Given the description of an element on the screen output the (x, y) to click on. 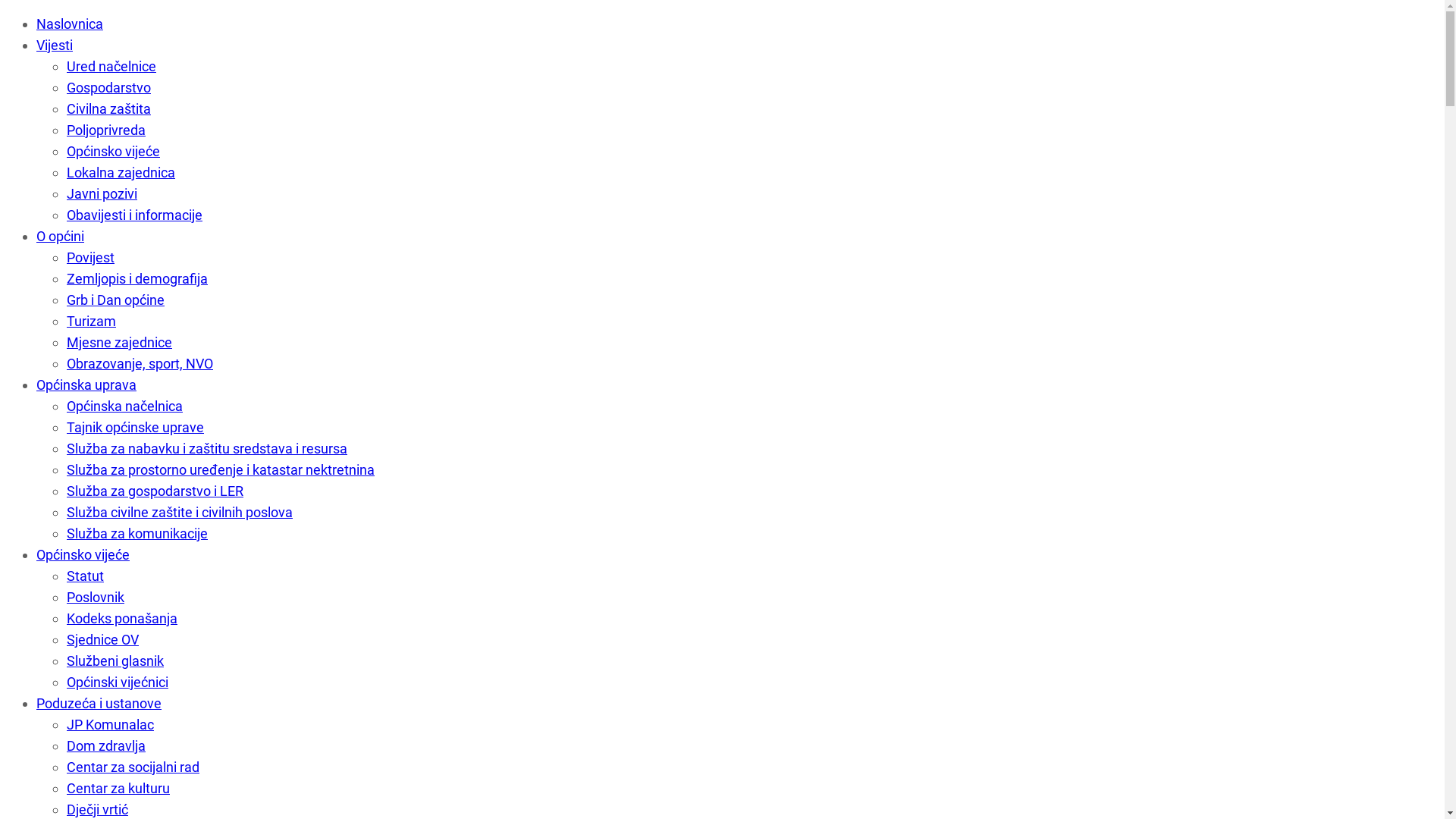
Obavijesti i informacije Element type: text (134, 214)
Javni pozivi Element type: text (101, 193)
Poslovnik Element type: text (95, 597)
Vijesti Element type: text (54, 45)
Obrazovanje, sport, NVO Element type: text (139, 363)
Poljoprivreda Element type: text (105, 130)
Turizam Element type: text (91, 321)
Mjesne zajednice Element type: text (119, 342)
Povijest Element type: text (90, 257)
Gospodarstvo Element type: text (108, 87)
Naslovnica Element type: text (69, 23)
Statut Element type: text (84, 575)
Lokalna zajednica Element type: text (120, 172)
JP Komunalac Element type: text (109, 724)
Centar za socijalni rad Element type: text (132, 767)
Zemljopis i demografija Element type: text (136, 278)
Centar za kulturu Element type: text (117, 788)
Sjednice OV Element type: text (102, 639)
Dom zdravlja Element type: text (105, 745)
